Given the description of an element on the screen output the (x, y) to click on. 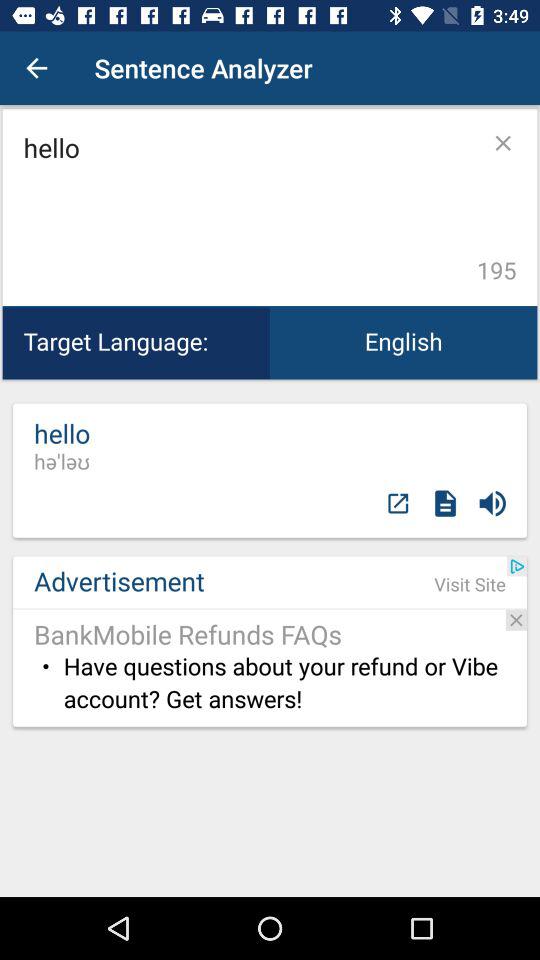
tap icon to the right of target language: (403, 342)
